Given the description of an element on the screen output the (x, y) to click on. 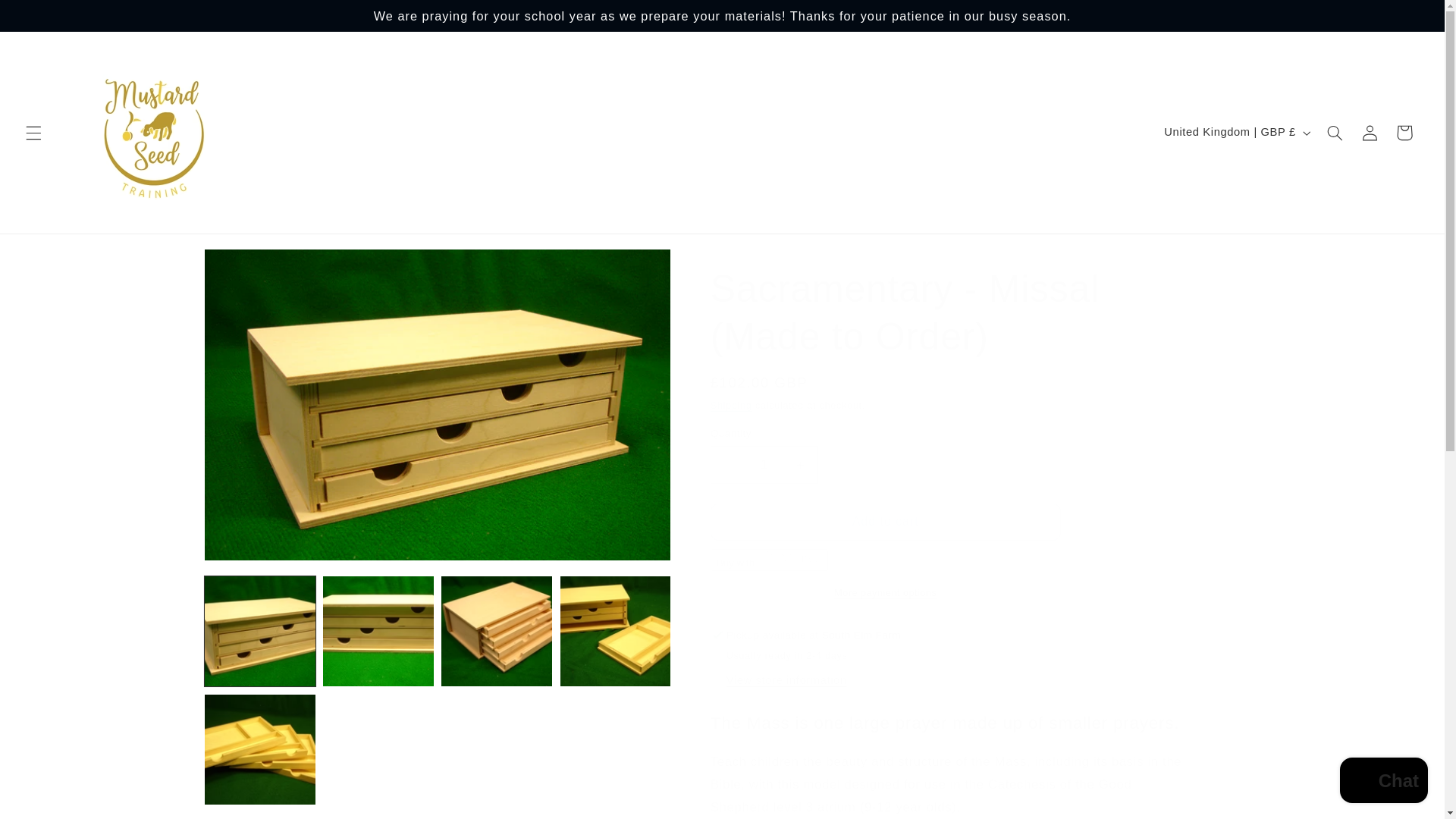
Log in (1369, 132)
Shopify online store chat (1383, 781)
1 (764, 464)
Skip to content (48, 18)
